Given the description of an element on the screen output the (x, y) to click on. 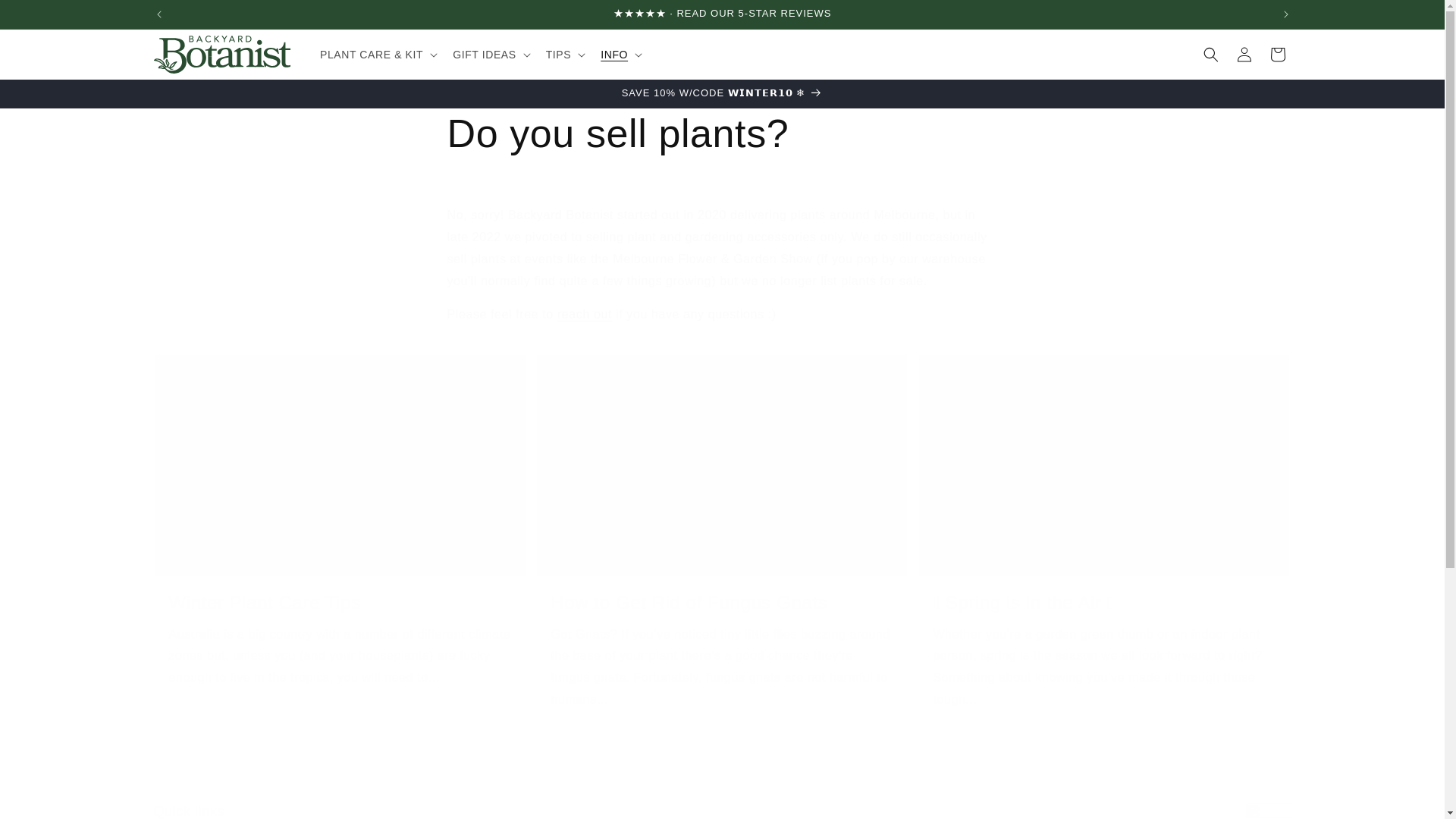
Do you sell plants? (721, 133)
Skip to content (45, 17)
Contact Us (434, 811)
